Given the description of an element on the screen output the (x, y) to click on. 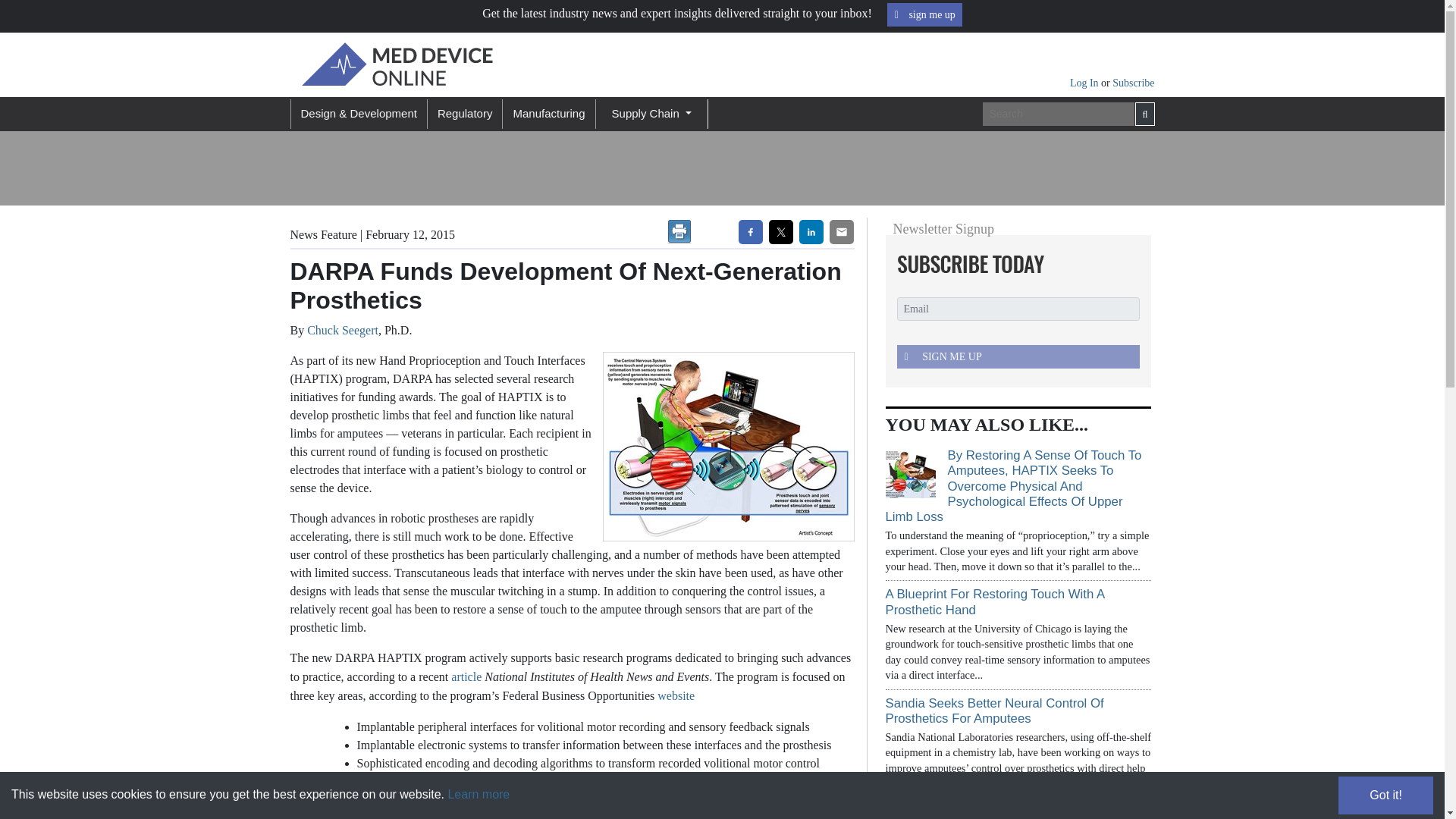
Chuck Seegert (342, 329)
Manufacturing (548, 113)
Subscribe (1133, 82)
sign me up (924, 14)
Supply Chain (651, 113)
SIGN ME UP (1017, 356)
3rd party ad content (623, 168)
Log In (1085, 82)
image1 (723, 446)
article (466, 676)
Regulatory (464, 113)
Print (679, 232)
